Given the description of an element on the screen output the (x, y) to click on. 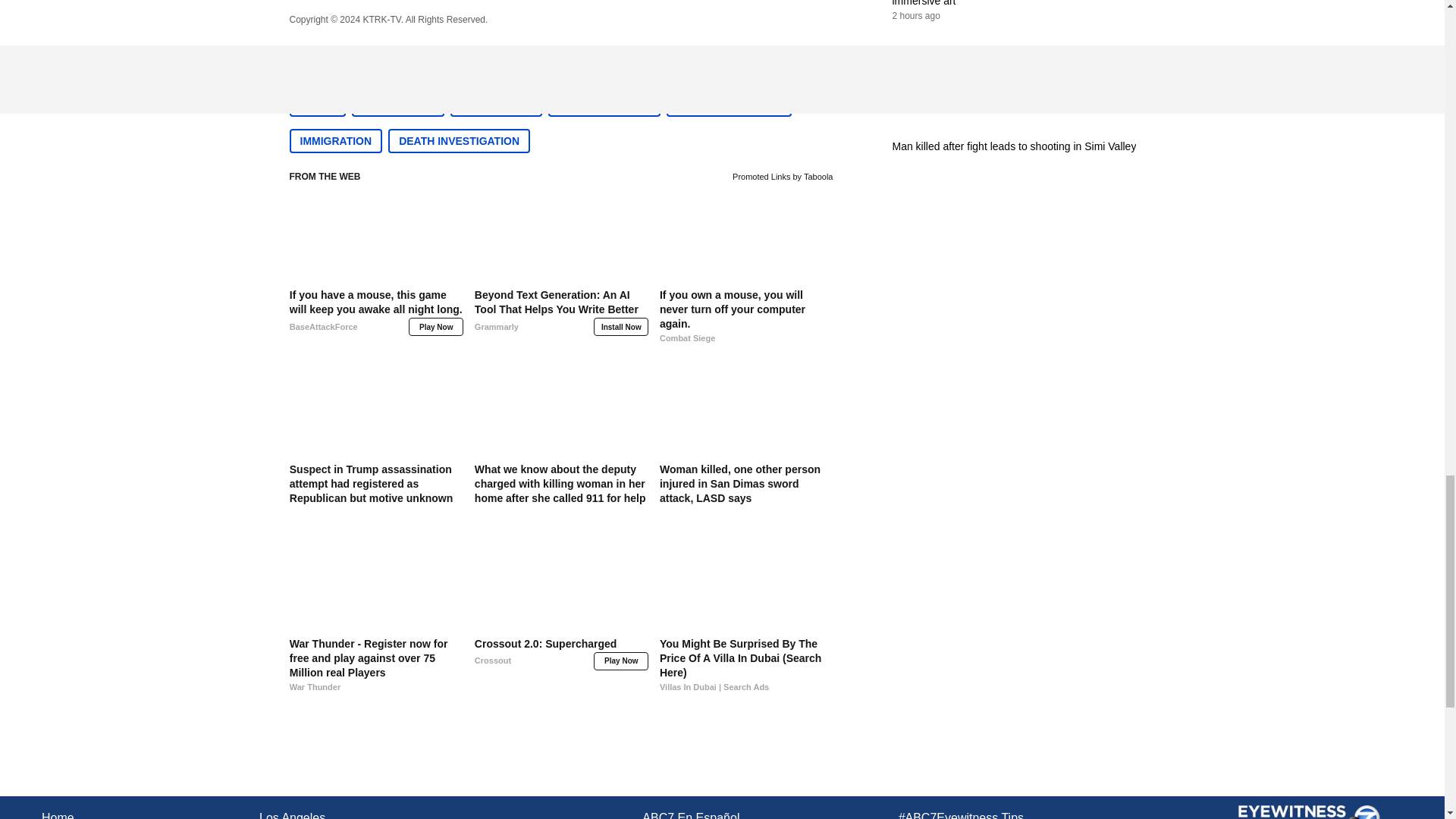
Crossout 2.0: Supercharged (560, 665)
